Given the description of an element on the screen output the (x, y) to click on. 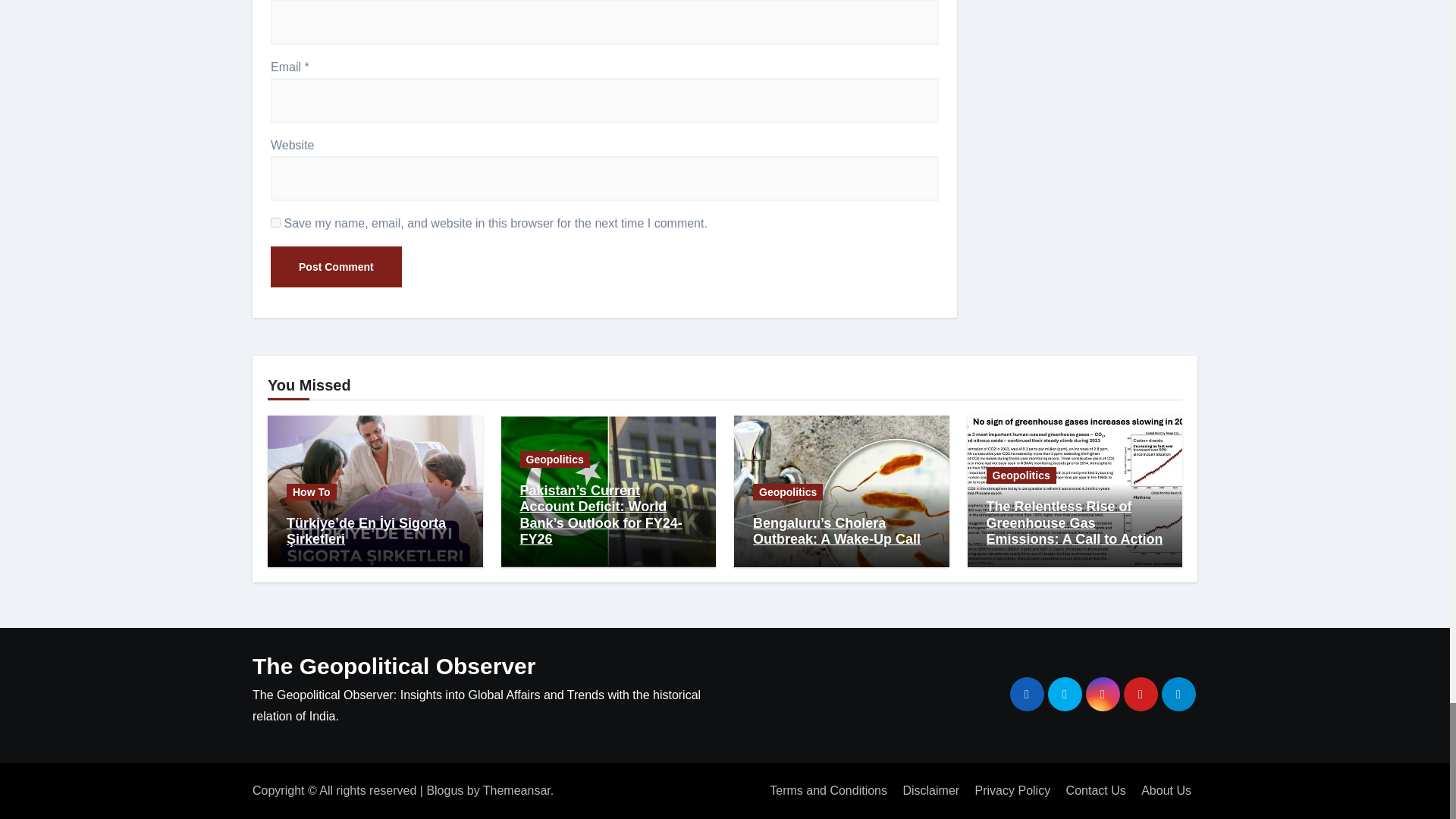
yes (275, 222)
Post Comment (335, 266)
Terms and Conditions (827, 790)
